Given the description of an element on the screen output the (x, y) to click on. 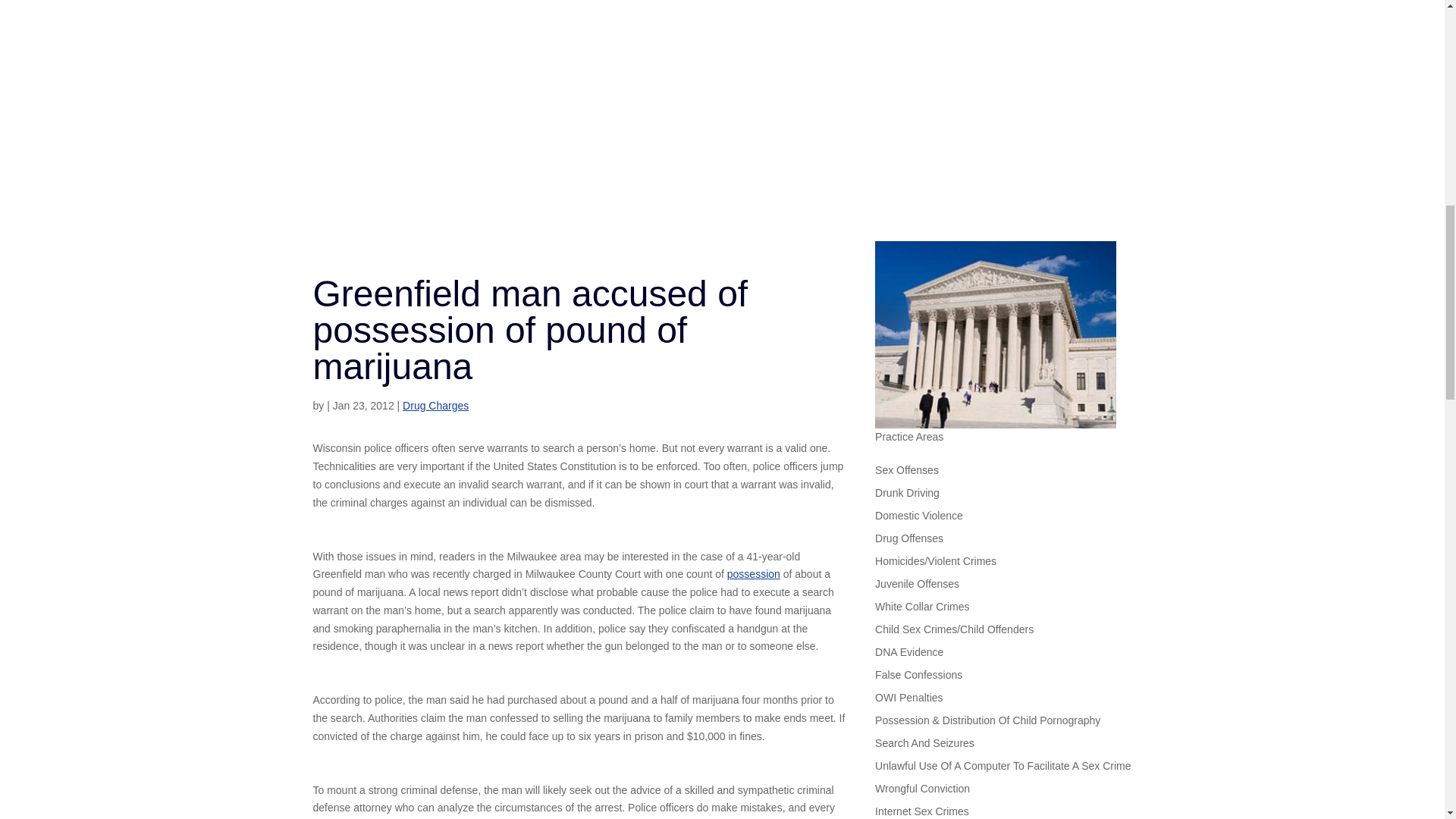
Drunk Driving (907, 495)
Drug Offenses (909, 541)
Sex Offenses (907, 473)
i-default (995, 334)
OWI Penalties (908, 700)
DNA Evidence (909, 655)
Unlawful Use Of A Computer To Facilitate A Sex Crime (1003, 768)
White Collar Crimes (922, 609)
Juvenile Offenses (917, 586)
possession (753, 573)
